Given the description of an element on the screen output the (x, y) to click on. 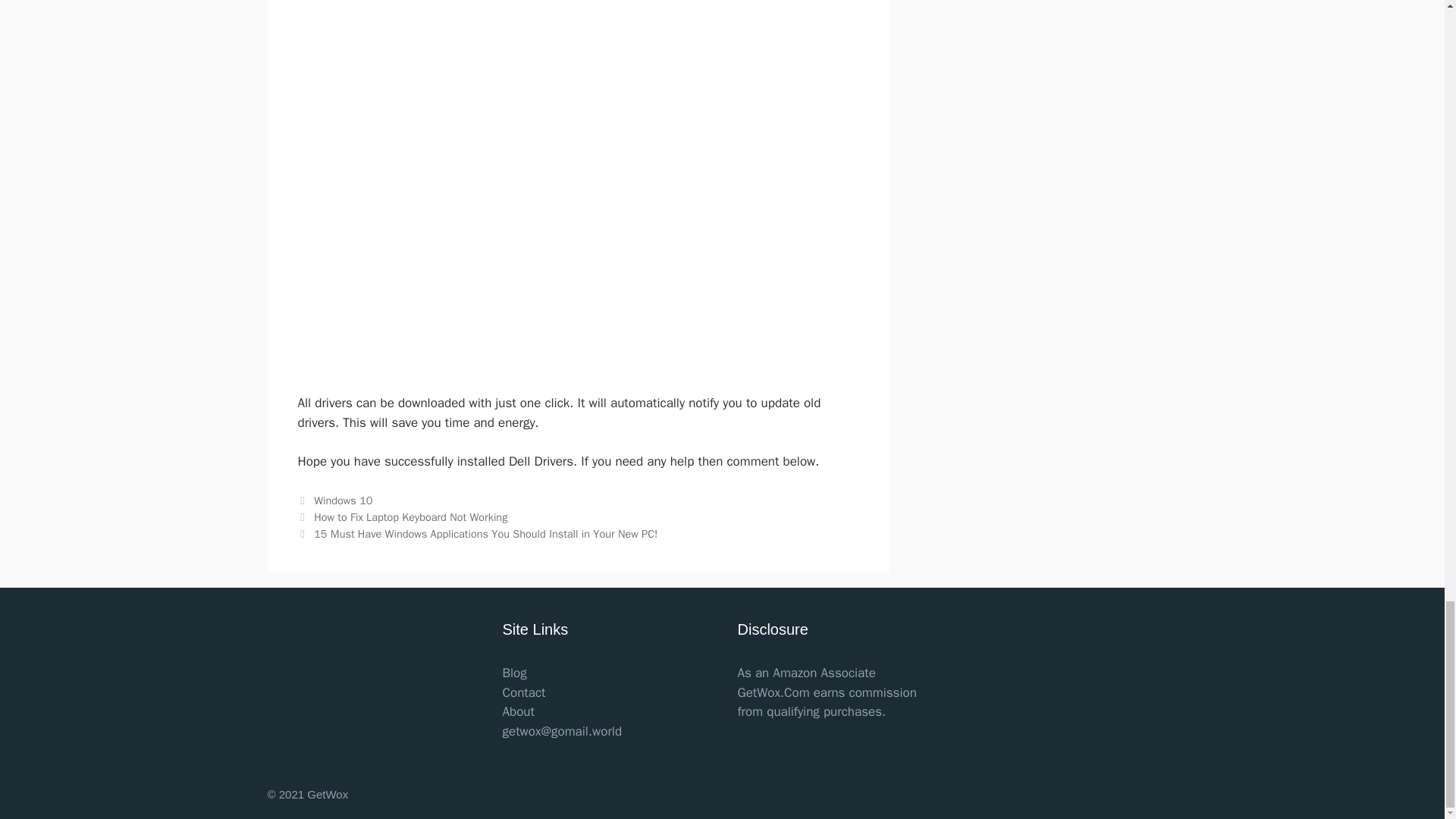
Blog (513, 672)
About (518, 711)
Contact (523, 692)
How to Fix Laptop Keyboard Not Working (410, 517)
Windows 10 (343, 499)
